Given the description of an element on the screen output the (x, y) to click on. 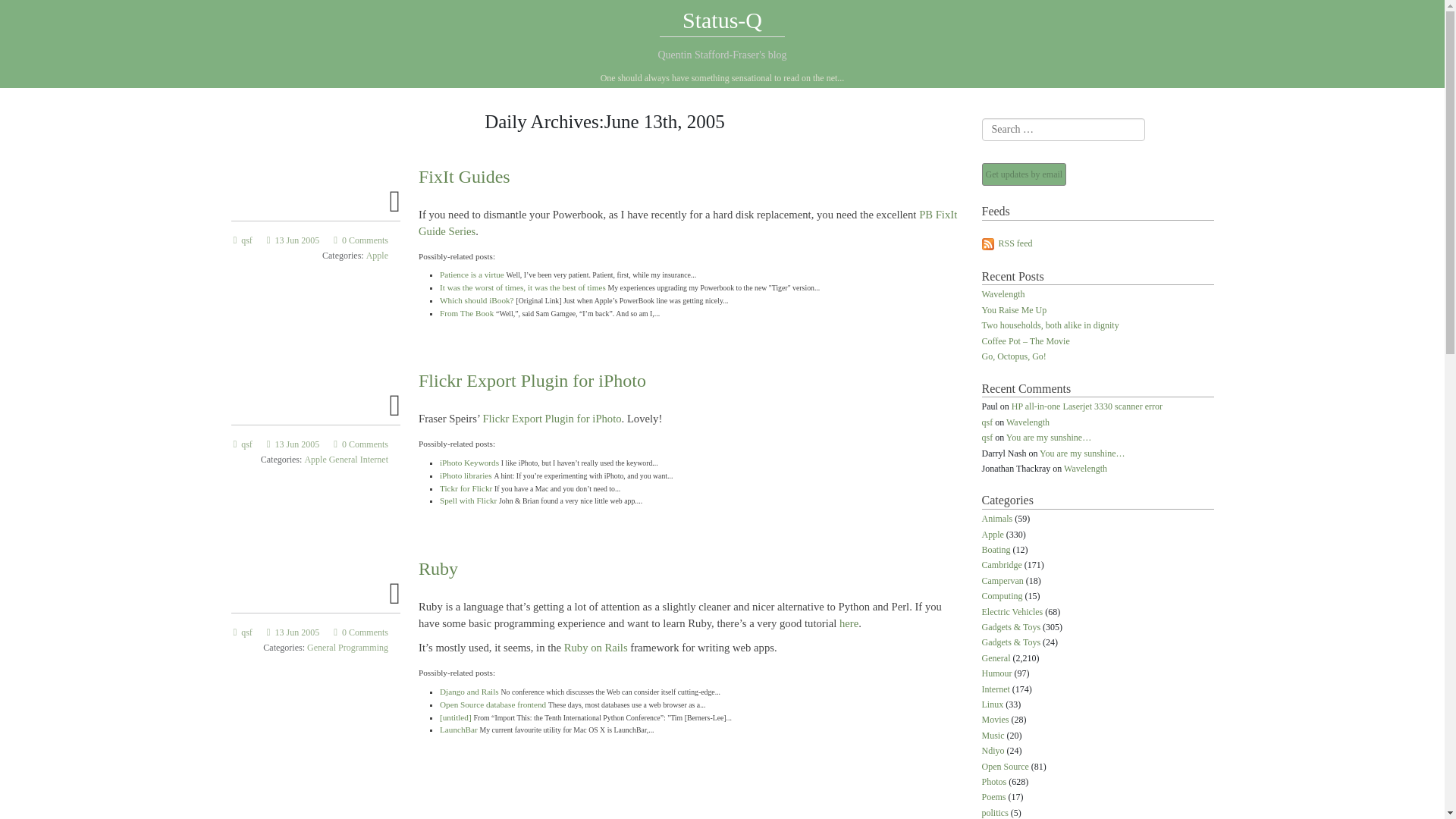
Which should iBook? (476, 299)
Permalink to Flickr Export Plugin for iPhoto (532, 380)
Tickr for Flickr (465, 488)
Status-Q (721, 20)
Apple (377, 255)
Patience is a virtue (471, 274)
Spell with Flickr (467, 500)
Ruby on Rails (595, 647)
qsf (241, 443)
Patience is a virtue (471, 274)
